Given the description of an element on the screen output the (x, y) to click on. 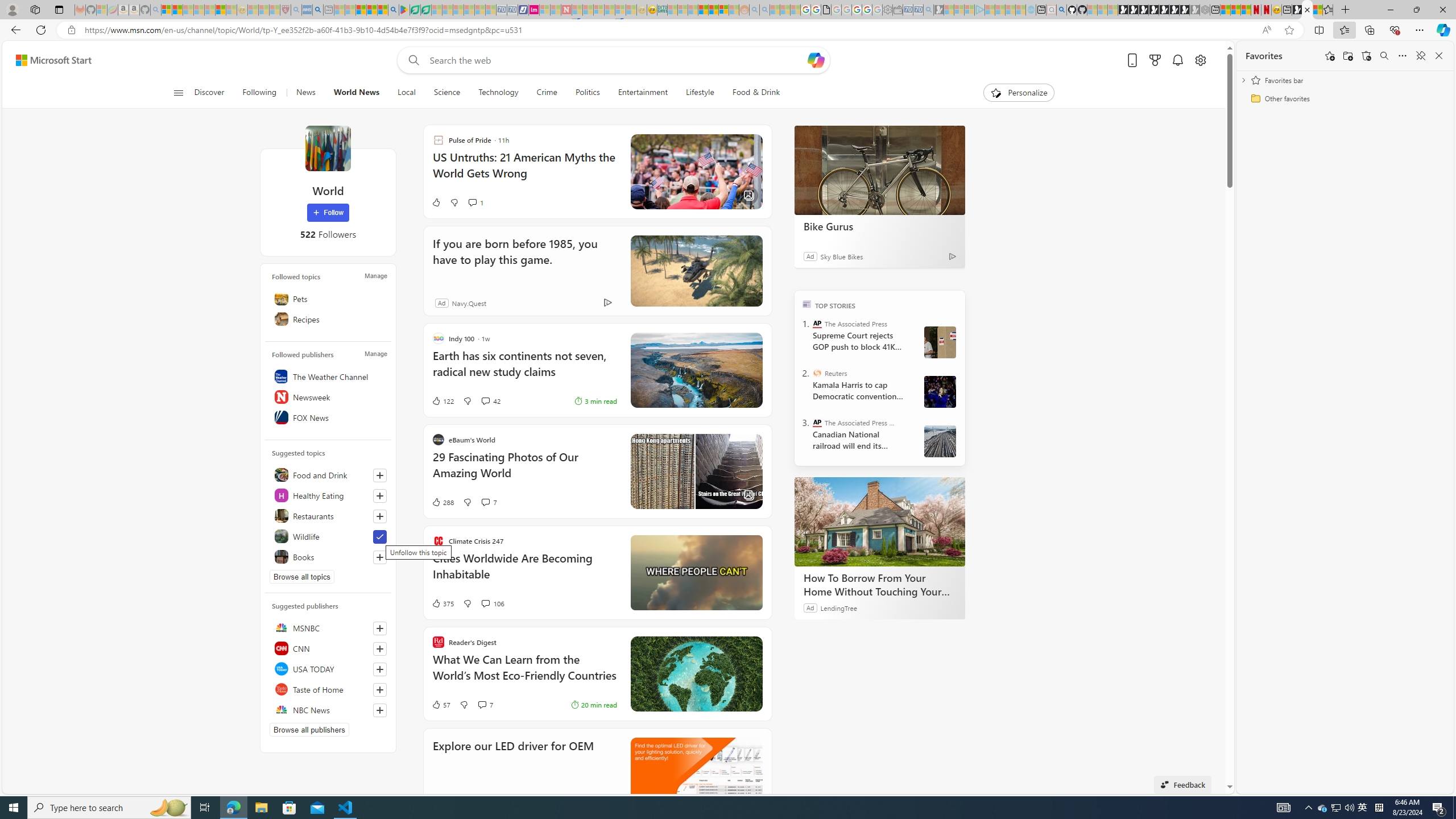
FOX News (327, 417)
Search favorites (1383, 55)
Food and Drink (327, 474)
Restore deleted favorites (1366, 55)
